Given the description of an element on the screen output the (x, y) to click on. 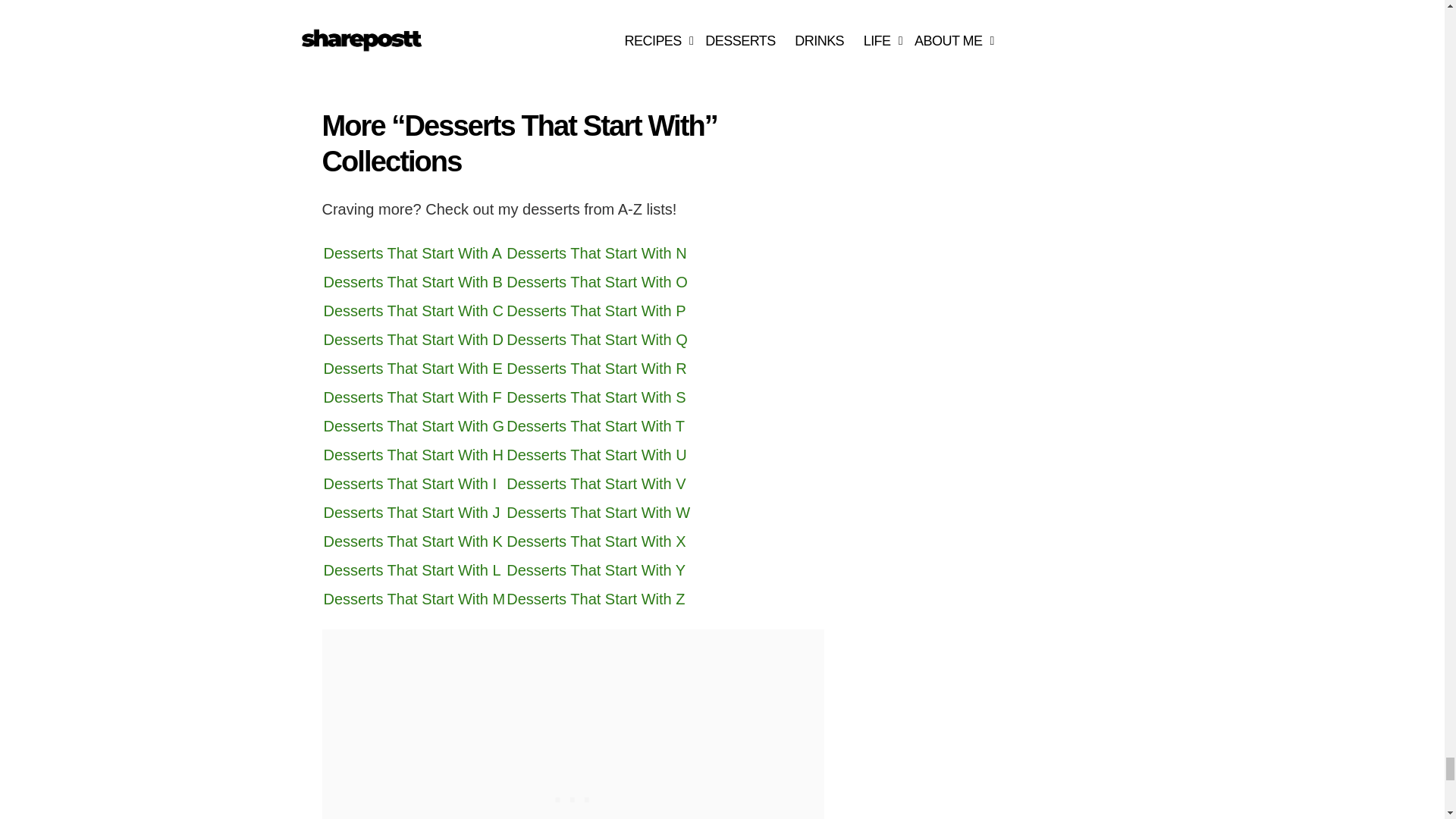
Desserts That Start With E (412, 368)
Desserts That Start With G (413, 425)
Desserts That Start With P (595, 310)
Desserts That Start With F (411, 397)
Desserts That Start With U (595, 454)
Desserts That Start With N (595, 252)
Desserts That Start With Q (596, 339)
Desserts That Start With R (595, 368)
Desserts That Start With D (412, 339)
Desserts That Start With A (411, 252)
Desserts That Start With C (412, 310)
Desserts That Start With S (595, 397)
Desserts That Start With B (412, 281)
Desserts That Start With H (412, 454)
Desserts That Start With I (409, 483)
